Given the description of an element on the screen output the (x, y) to click on. 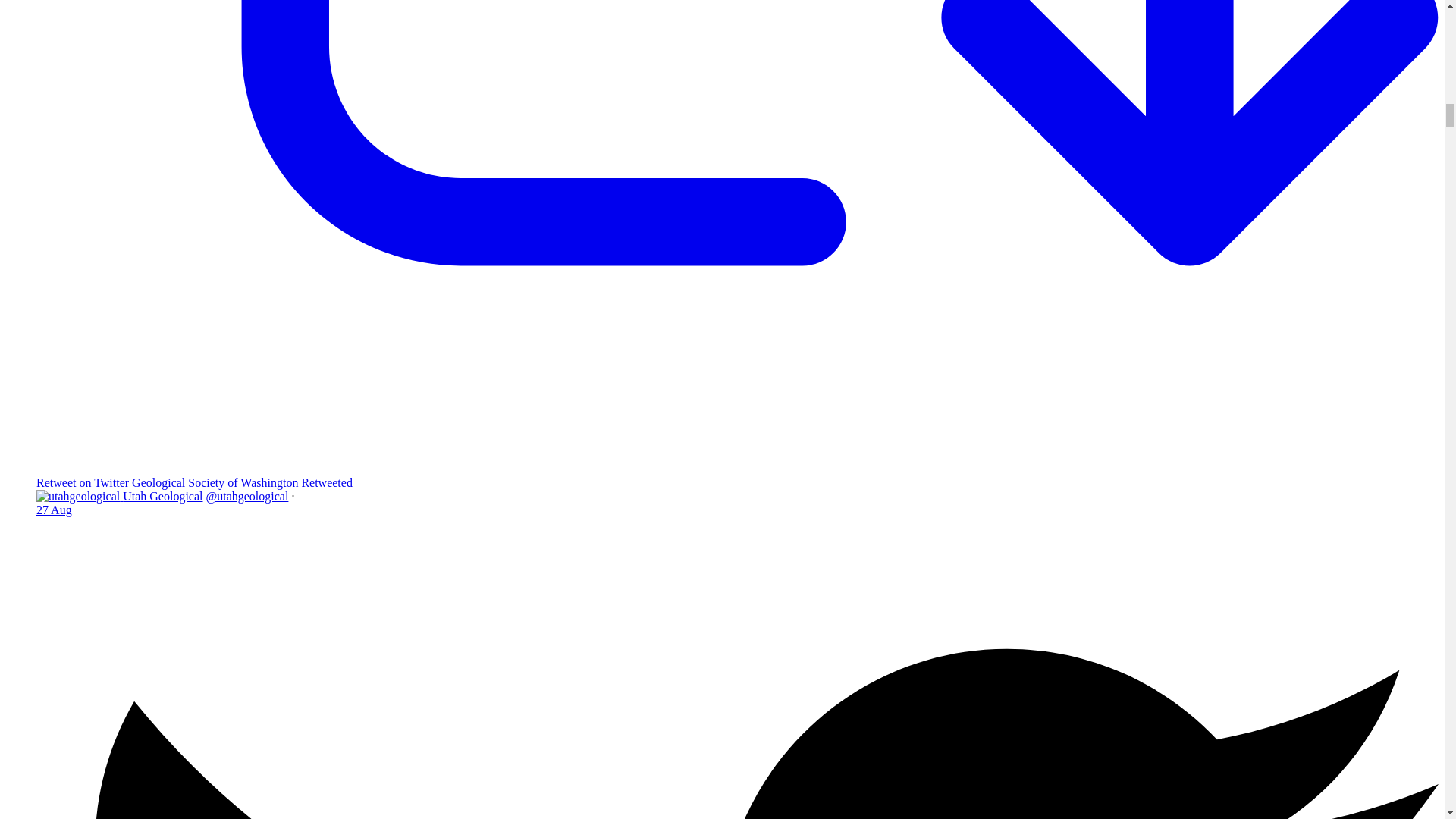
Geological Society of Washington Retweeted (242, 481)
27 Aug (53, 509)
Utah Geological (162, 495)
